Given the description of an element on the screen output the (x, y) to click on. 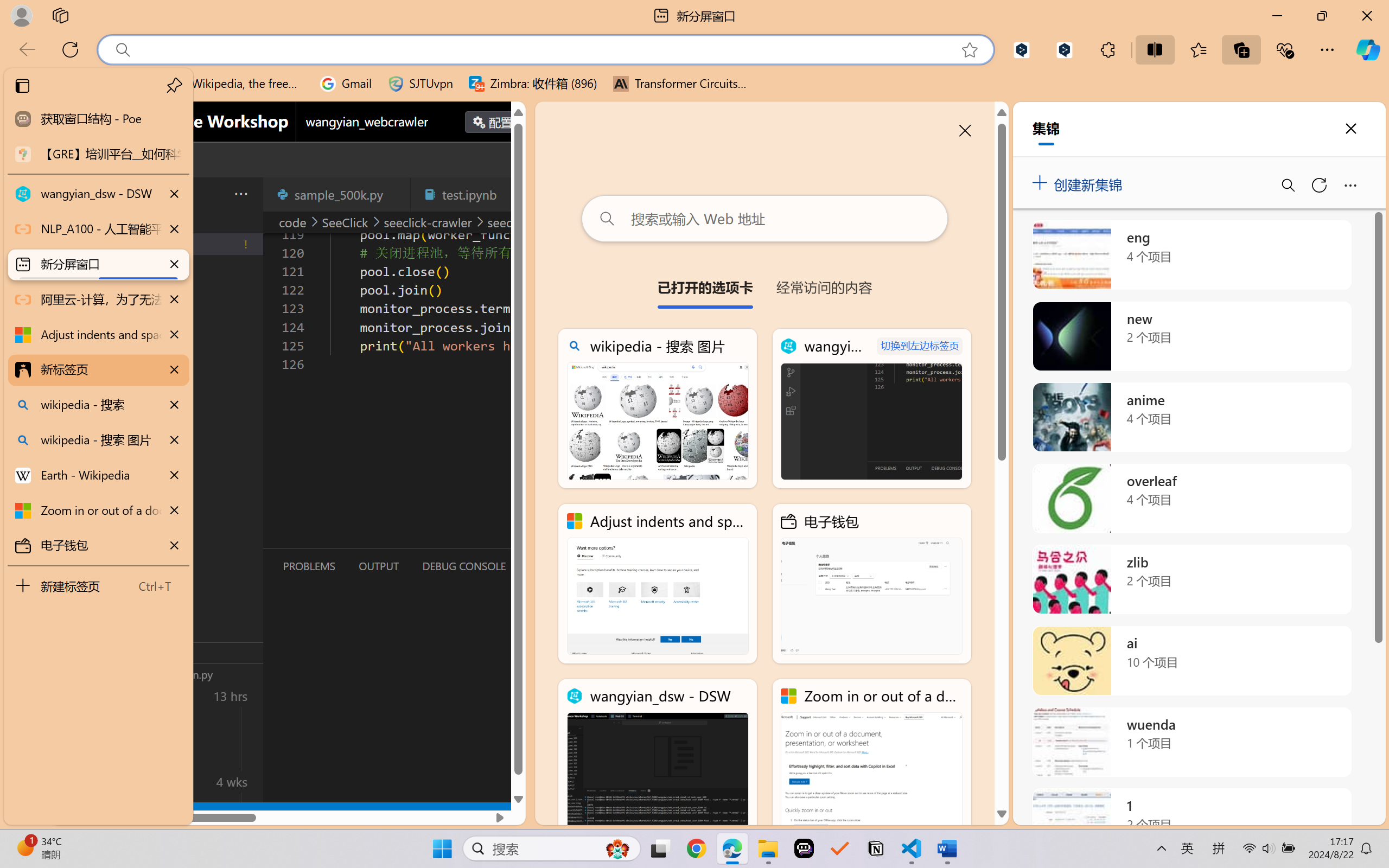
Copilot (Ctrl+Shift+.) (1368, 49)
No Problems (115, 812)
Adjust indents and spacing - Microsoft Support (97, 334)
Timeline Section (179, 673)
wangyian_webcrawler - DSW (871, 408)
test.ipynb (468, 194)
SJTUvpn (419, 83)
